Given the description of an element on the screen output the (x, y) to click on. 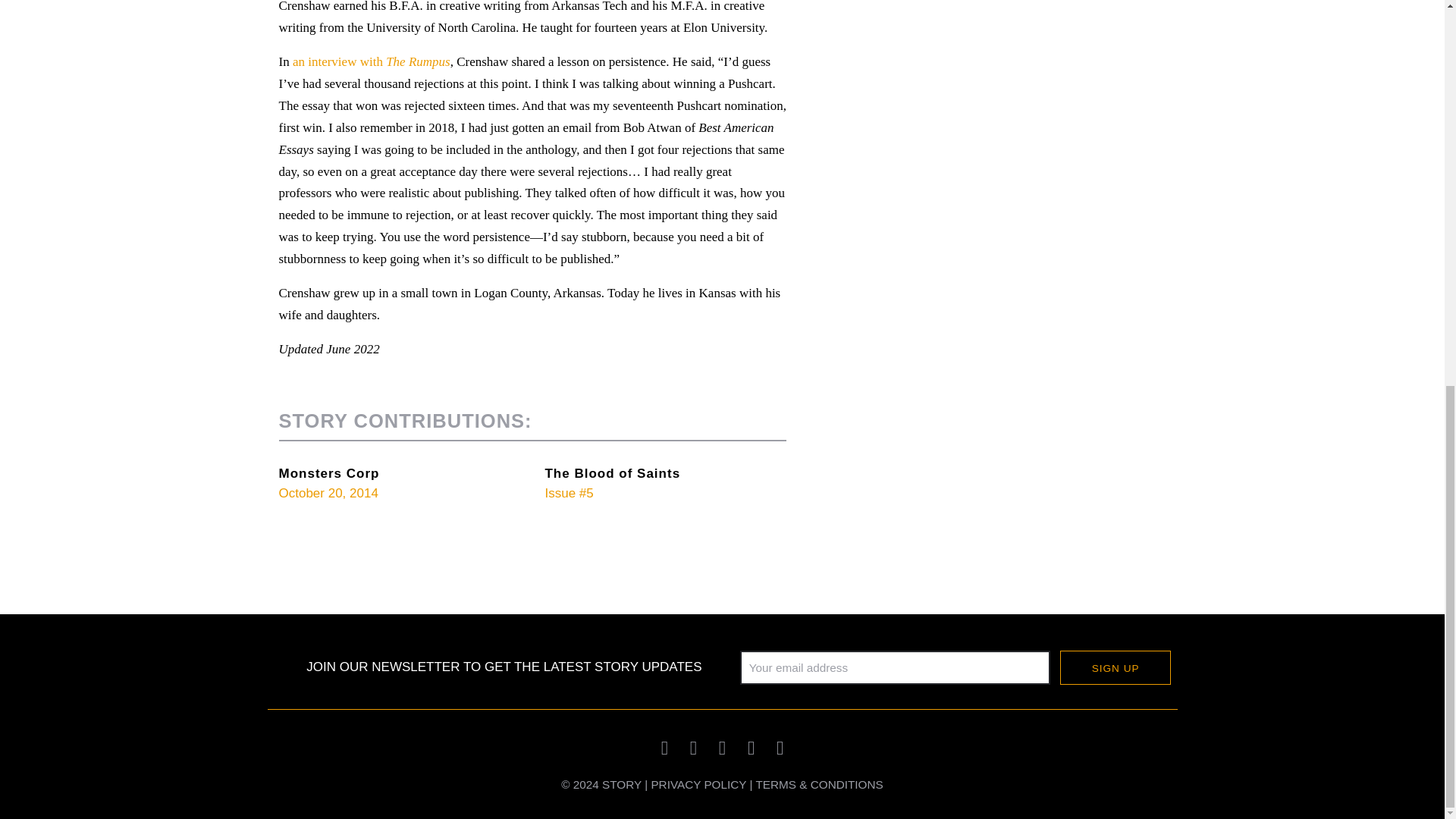
October 20, 2014 (328, 493)
Monsters Corp (329, 472)
Sign up (1114, 667)
an interview with The Rumpus (370, 61)
The Blood of Saints (611, 472)
STORY (622, 784)
Sign up (1114, 667)
PRIVACY POLICY (697, 784)
